Given the description of an element on the screen output the (x, y) to click on. 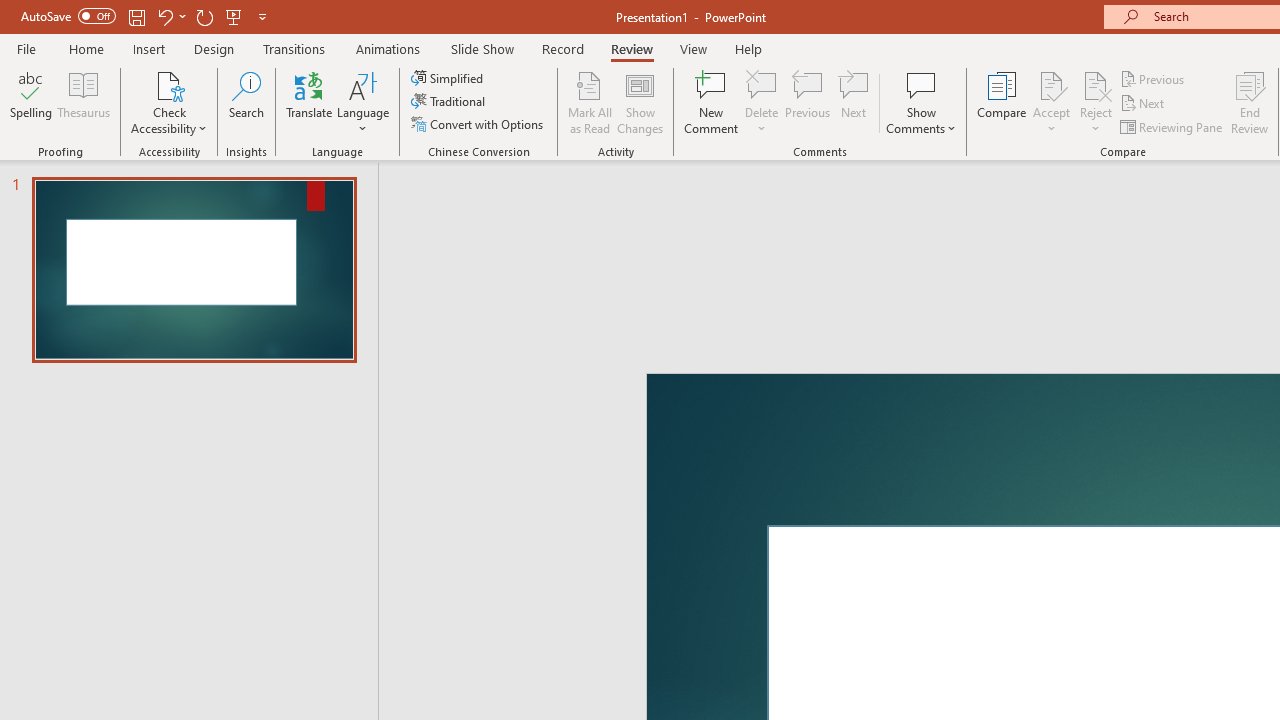
Save (136, 15)
Language (363, 102)
Reject Change (1096, 84)
Undo (164, 15)
Next (1144, 103)
Search (246, 102)
New Comment (711, 102)
System (10, 11)
Record (562, 48)
Mark All as Read (589, 102)
Check Accessibility (169, 84)
Slide (194, 269)
View (693, 48)
From Beginning (234, 15)
More Options (1096, 121)
